Given the description of an element on the screen output the (x, y) to click on. 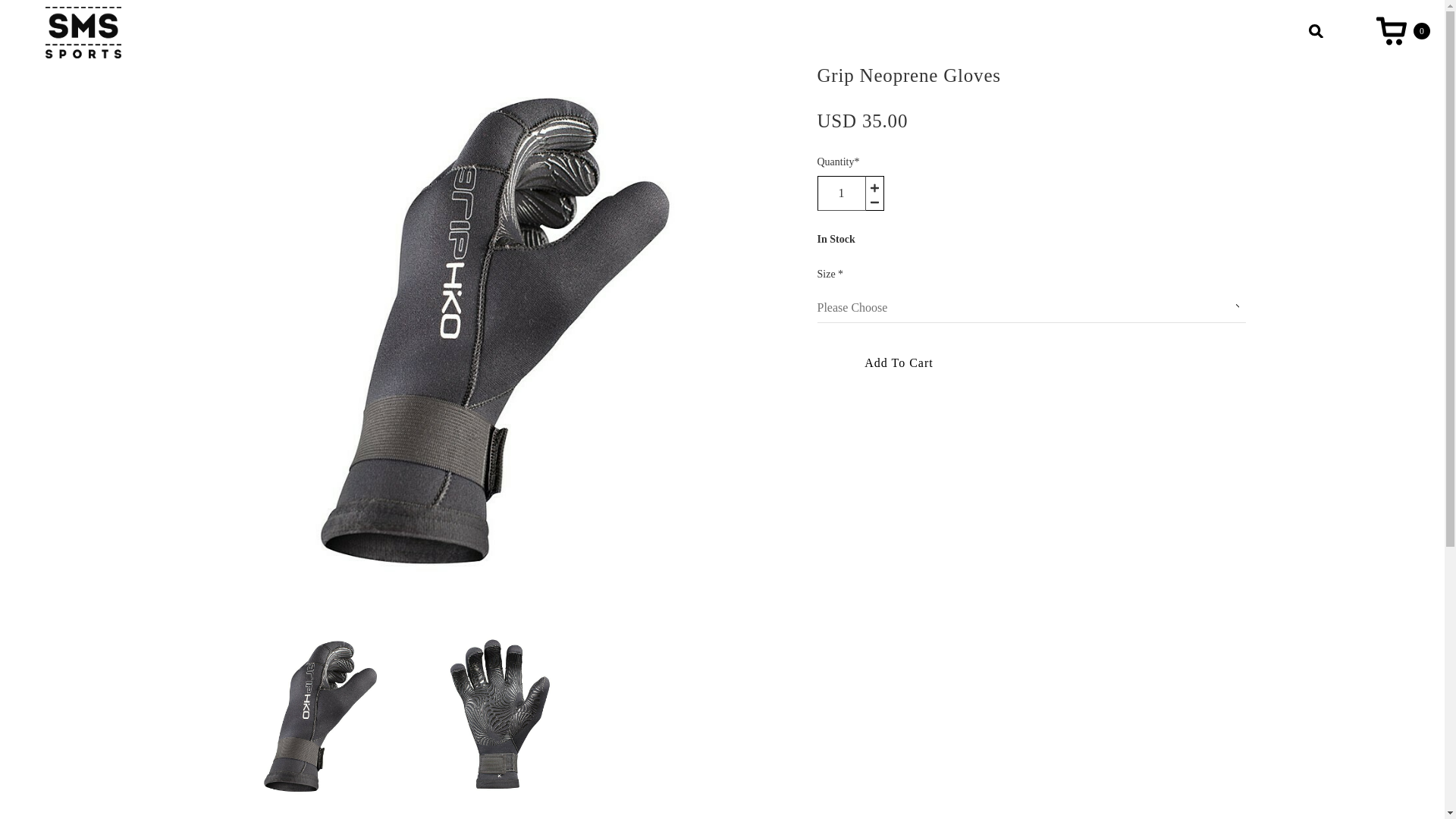
1 (841, 193)
